Given the description of an element on the screen output the (x, y) to click on. 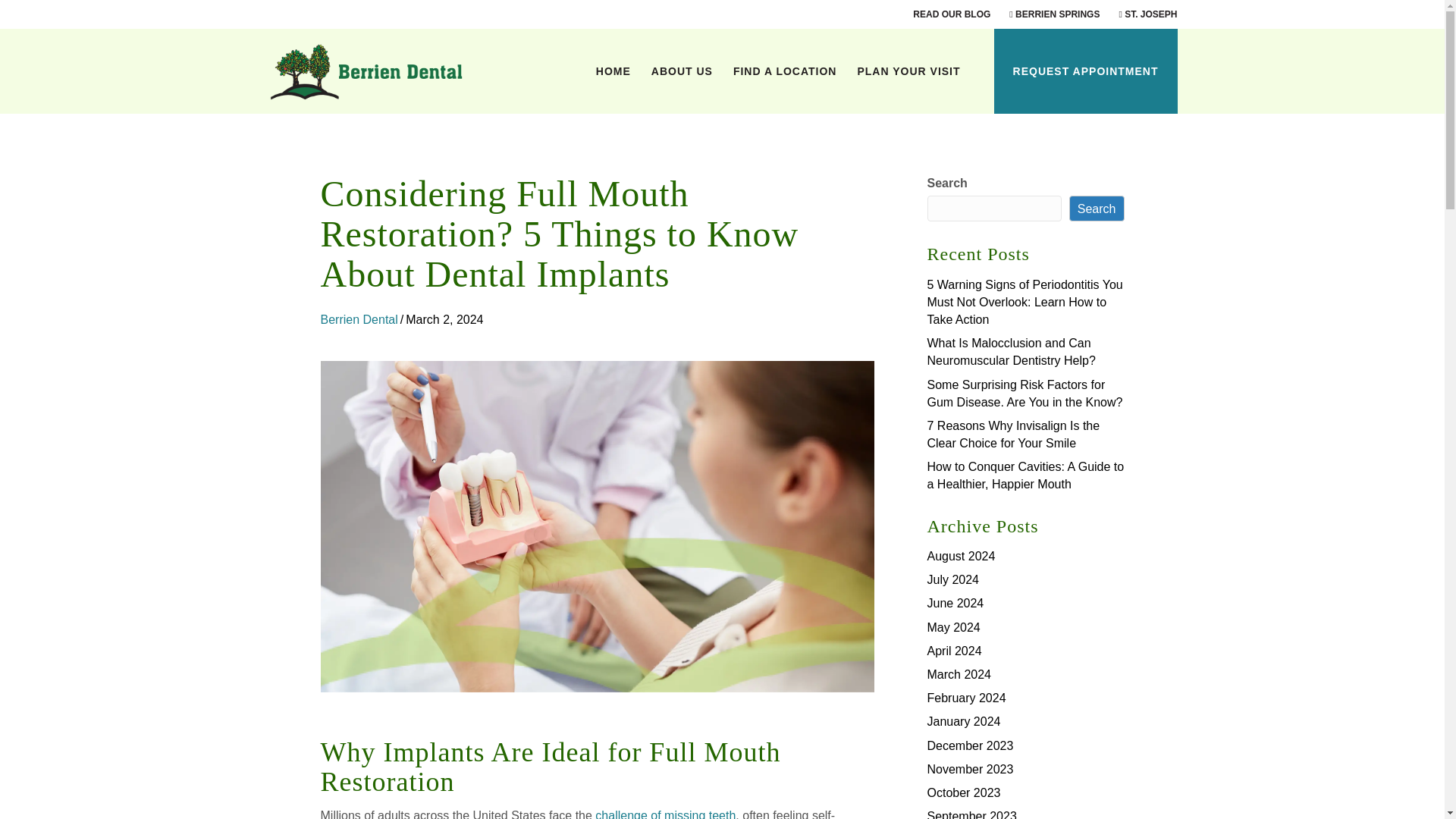
BERRIEN SPRINGS (1054, 13)
Berrien Dental (358, 318)
HOME (613, 71)
What Is Malocclusion and Can Neuromuscular Dentistry Help? (1010, 351)
Search (1096, 208)
August 2024 (960, 555)
7 Reasons Why Invisalign Is the Clear Choice for Your Smile (1012, 434)
